Given the description of an element on the screen output the (x, y) to click on. 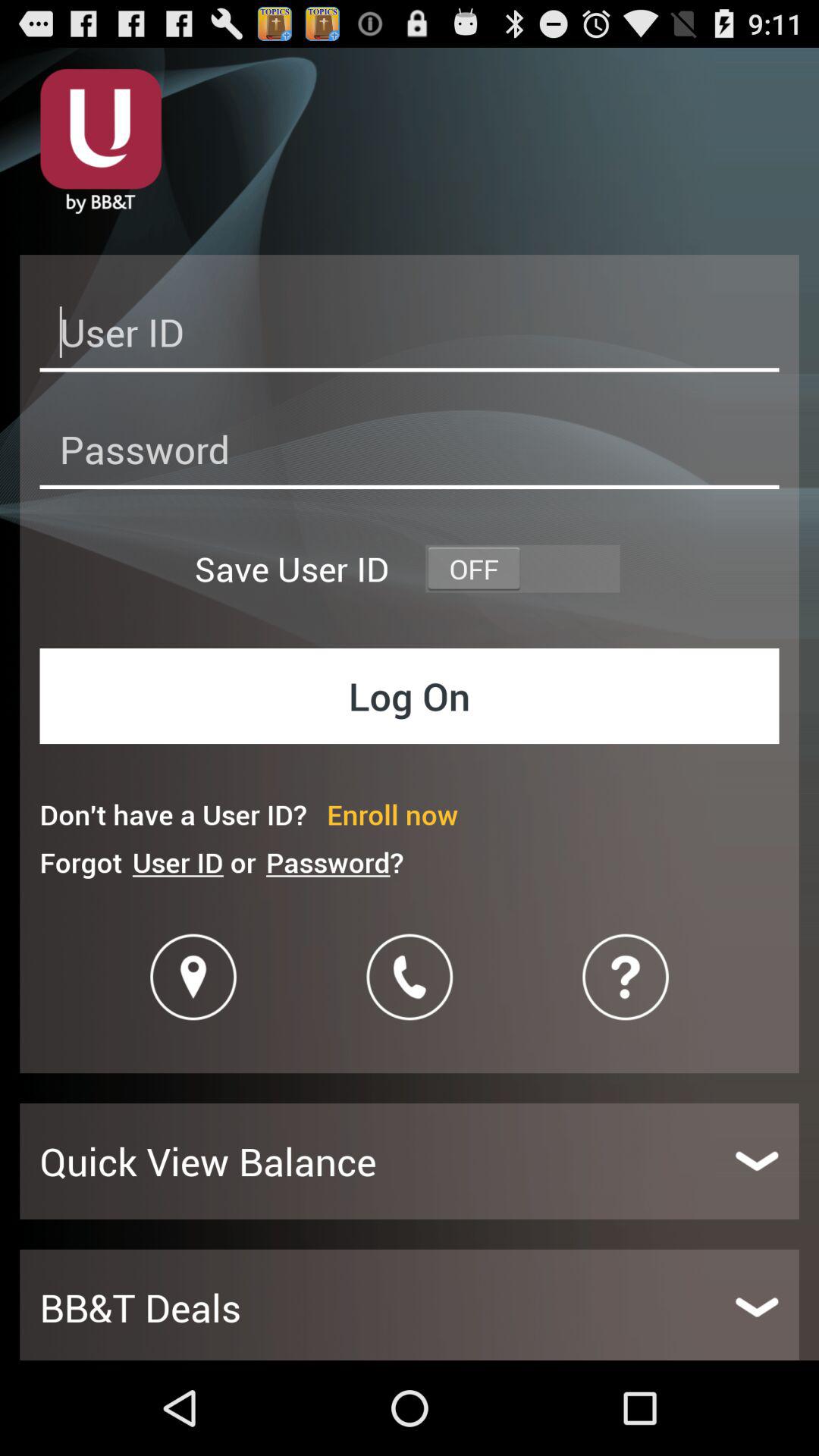
swipe to the log on button (409, 695)
